Given the description of an element on the screen output the (x, y) to click on. 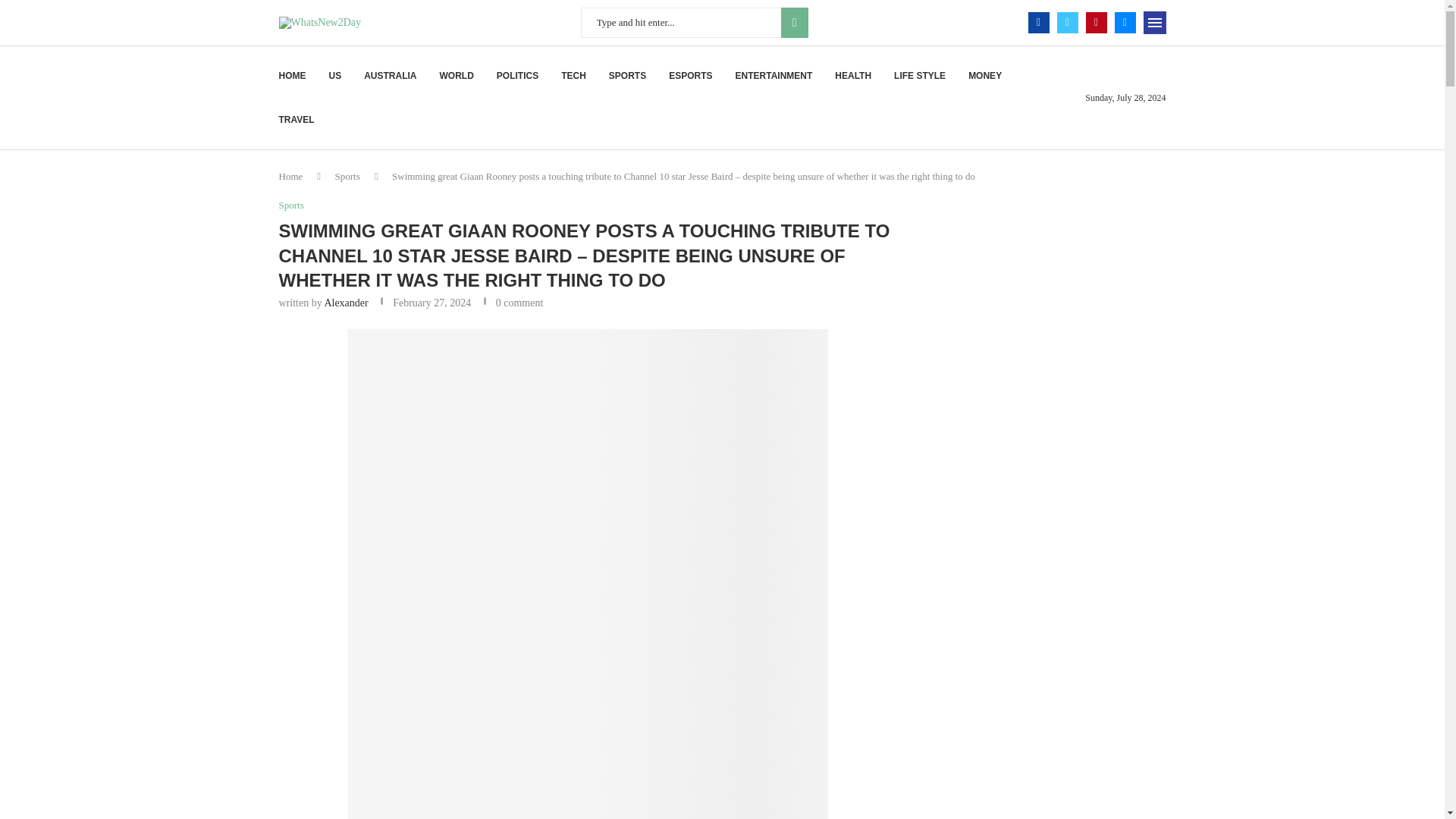
SEARCH (794, 22)
POLITICS (517, 75)
ESPORTS (689, 75)
LIFE STYLE (918, 75)
AUSTRALIA (390, 75)
ENTERTAINMENT (773, 75)
